Given the description of an element on the screen output the (x, y) to click on. 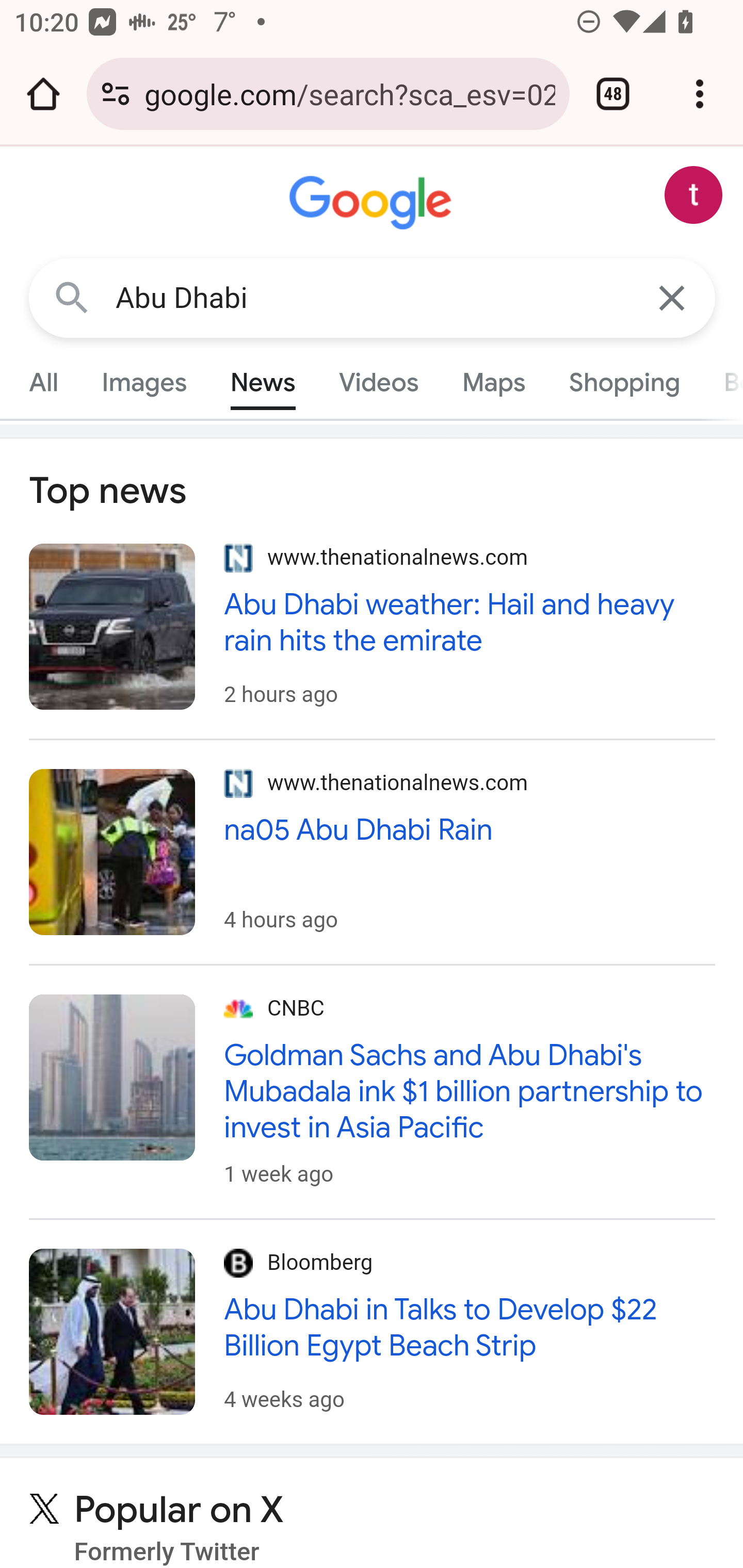
Open the home page (43, 93)
Connection is secure (115, 93)
Switch or close tabs (612, 93)
Customize and control Google Chrome (699, 93)
Google (372, 203)
Google Search (71, 296)
Clear Search (672, 296)
Abu Dhabi (372, 297)
All (43, 382)
Images (144, 382)
Videos (378, 382)
Maps (493, 382)
Shopping (623, 382)
